Given the description of an element on the screen output the (x, y) to click on. 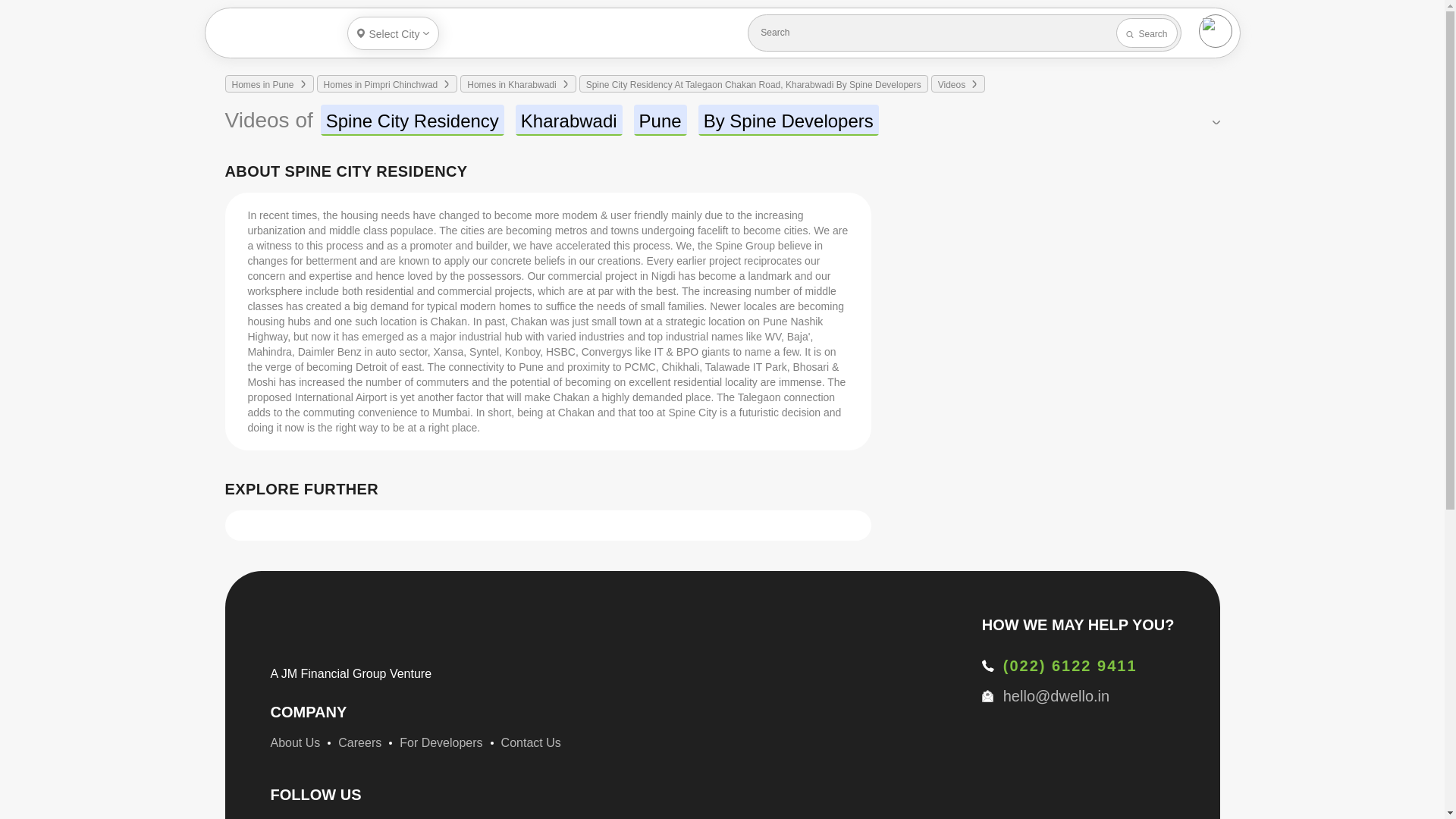
Homes in Pune (262, 84)
Homes in Pimpri Chinchwad (380, 84)
